Given the description of an element on the screen output the (x, y) to click on. 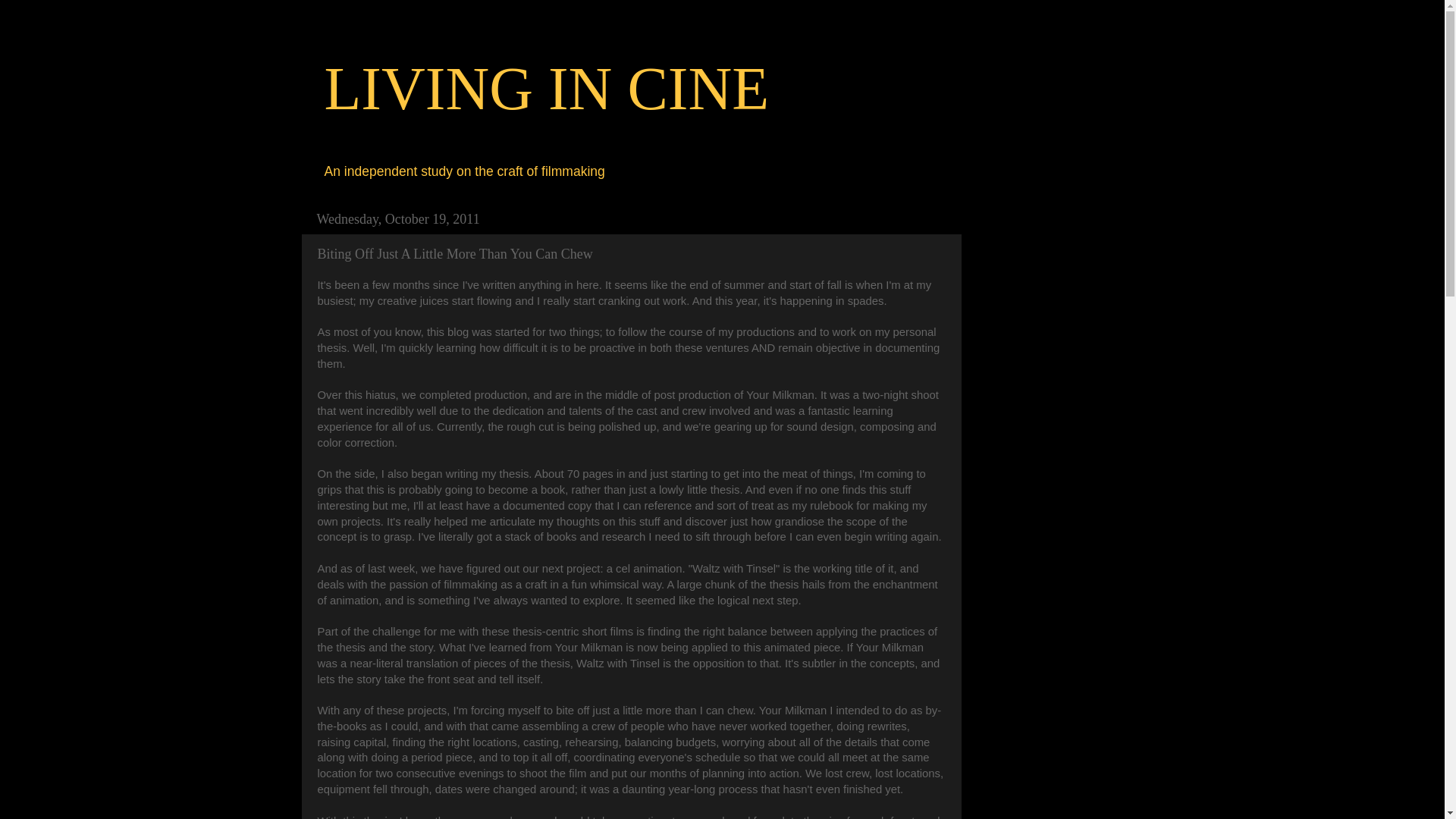
LIVING IN CINE (547, 88)
